Given the description of an element on the screen output the (x, y) to click on. 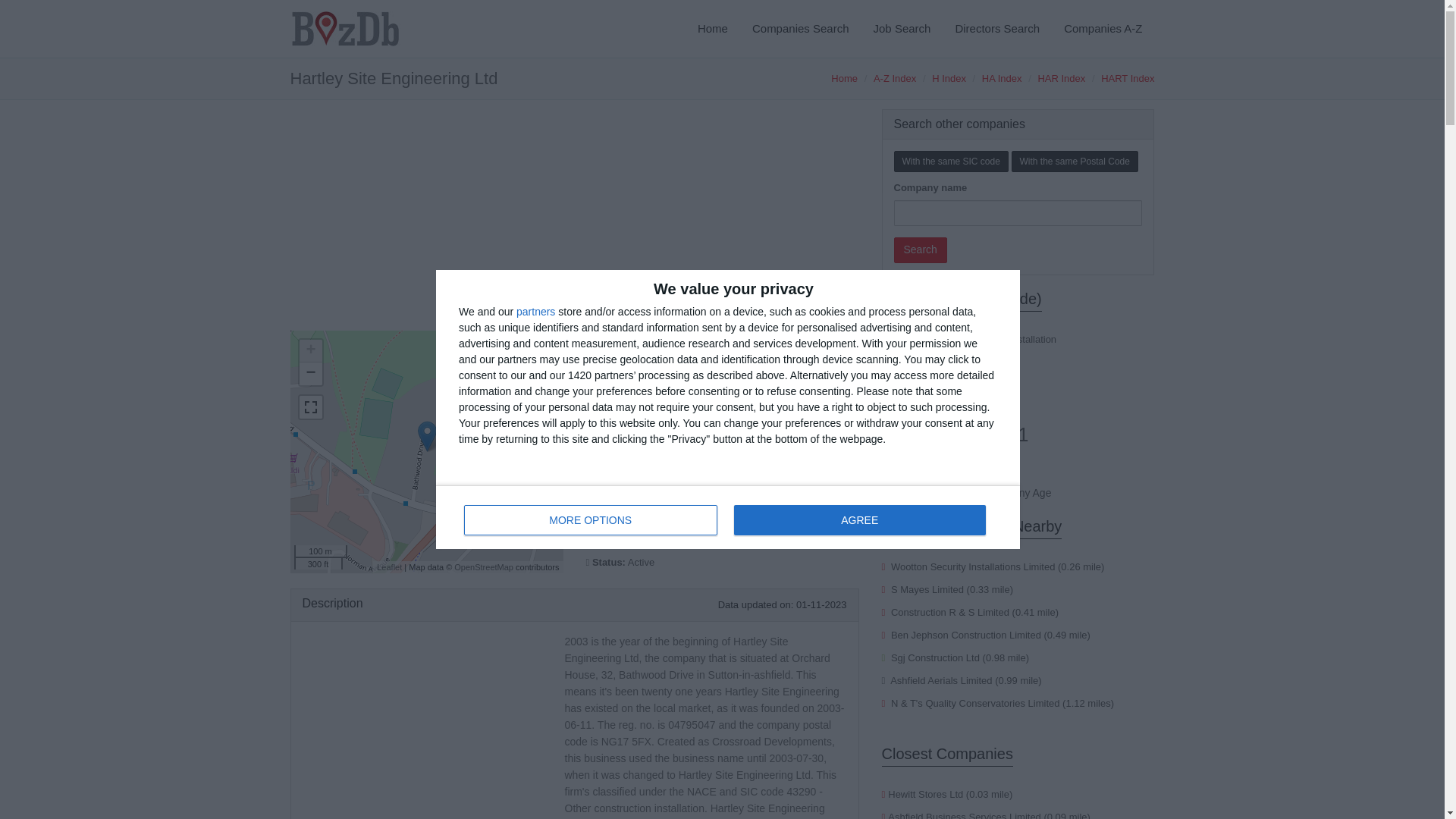
Home (712, 28)
Wootton Security Installations Limited (973, 566)
View Fullscreen (309, 406)
S Mayes Limited (927, 589)
Companies A-Z (1102, 28)
Home (844, 78)
HAR Index (1060, 78)
H Index (948, 78)
AGREE (859, 520)
H Index (948, 78)
